Given the description of an element on the screen output the (x, y) to click on. 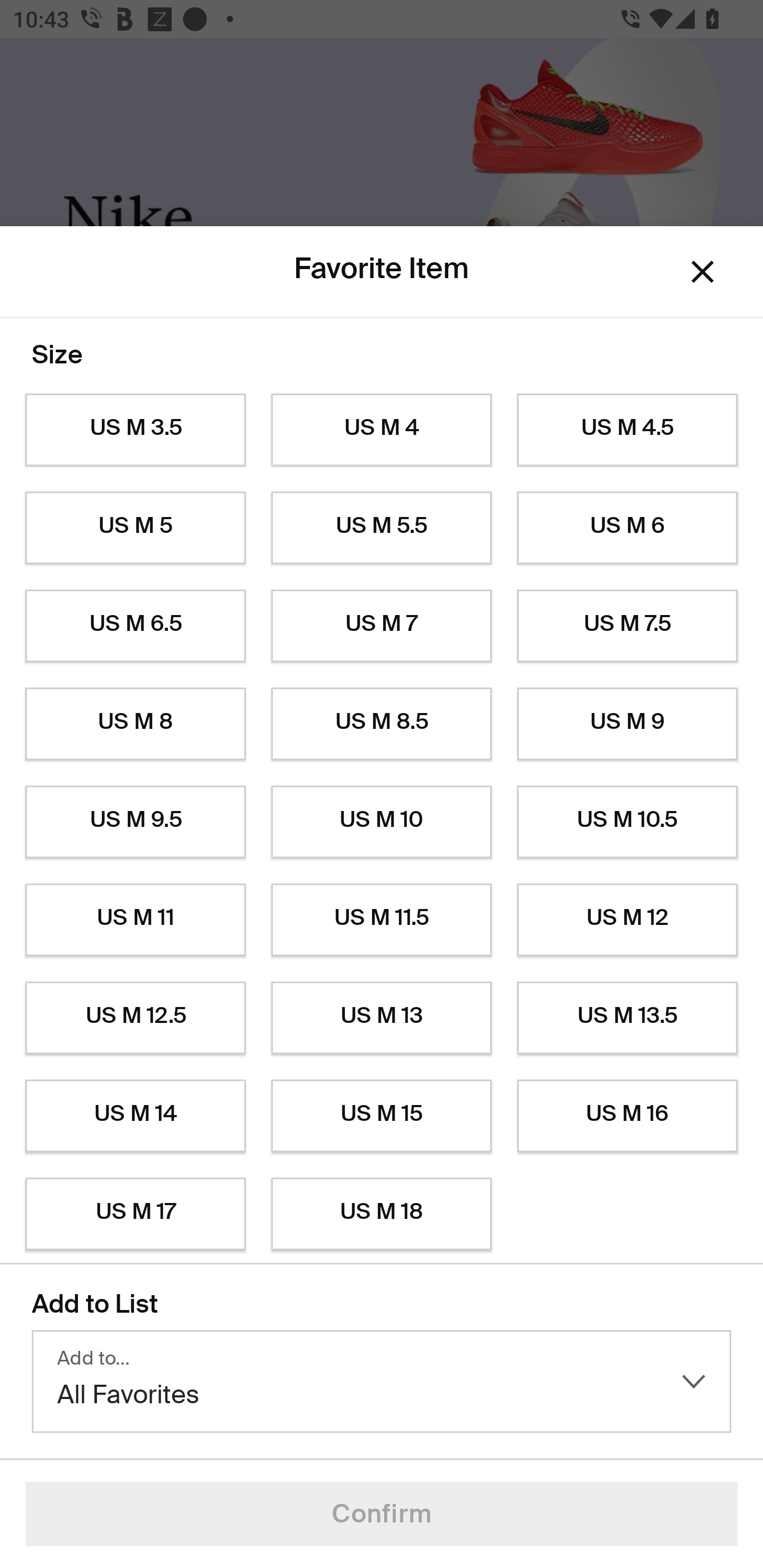
Dismiss (702, 271)
US M 3.5 (135, 430)
US M 4 (381, 430)
US M 4.5 (627, 430)
US M 5 (135, 527)
US M 5.5 (381, 527)
US M 6 (627, 527)
US M 6.5 (135, 626)
US M 7 (381, 626)
US M 7.5 (627, 626)
US M 8 (135, 724)
US M 8.5 (381, 724)
US M 9 (627, 724)
US M 9.5 (135, 822)
US M 10 (381, 822)
US M 10.5 (627, 822)
US M 11 (135, 919)
US M 11.5 (381, 919)
US M 12 (627, 919)
US M 12.5 (135, 1018)
US M 13 (381, 1018)
US M 13.5 (627, 1018)
US M 14 (135, 1116)
US M 15 (381, 1116)
US M 16 (627, 1116)
US M 17 (135, 1214)
US M 18 (381, 1214)
Add to… All Favorites (381, 1381)
Confirm (381, 1513)
